Given the description of an element on the screen output the (x, y) to click on. 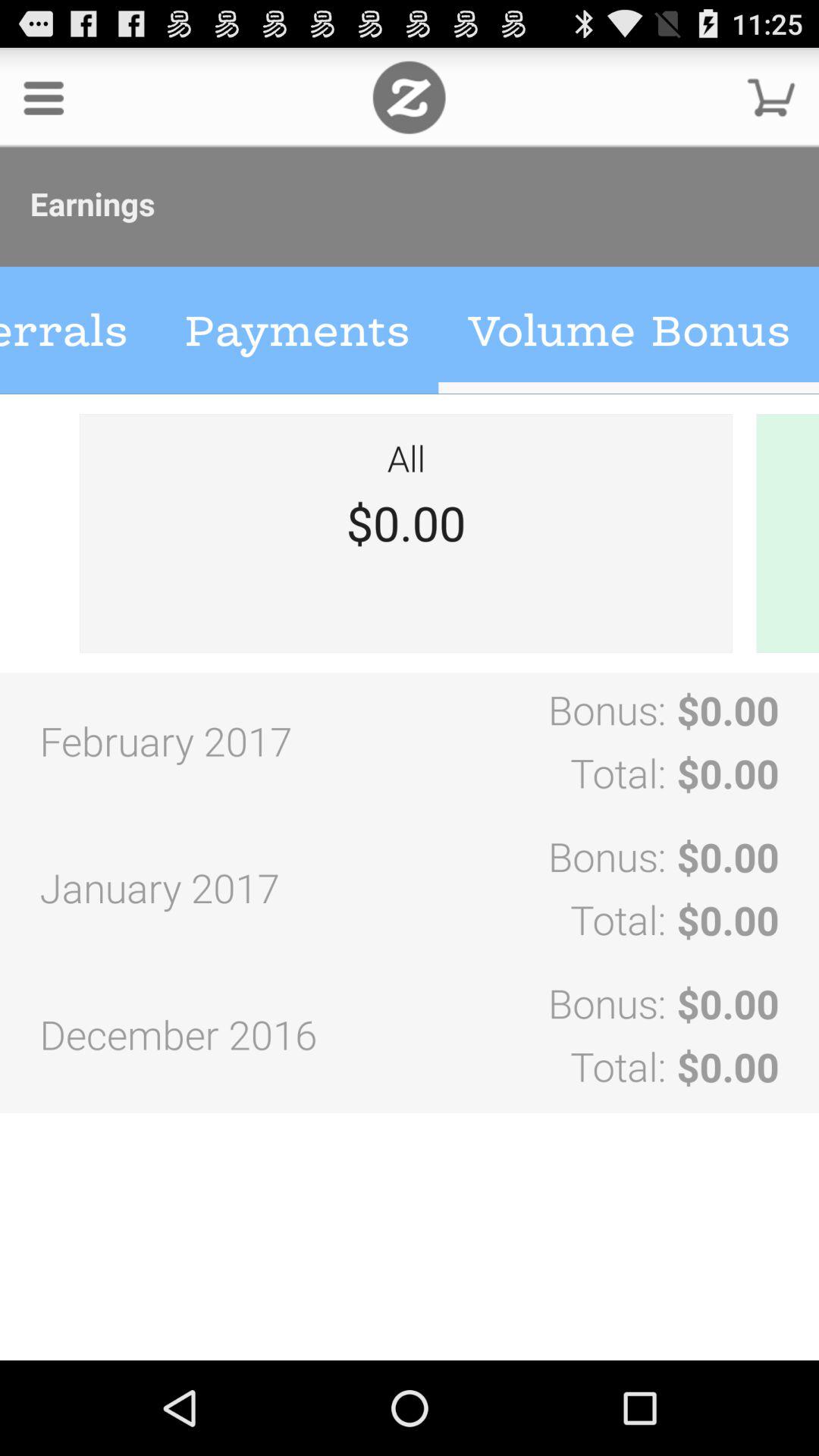
open shopping cart (771, 97)
